Given the description of an element on the screen output the (x, y) to click on. 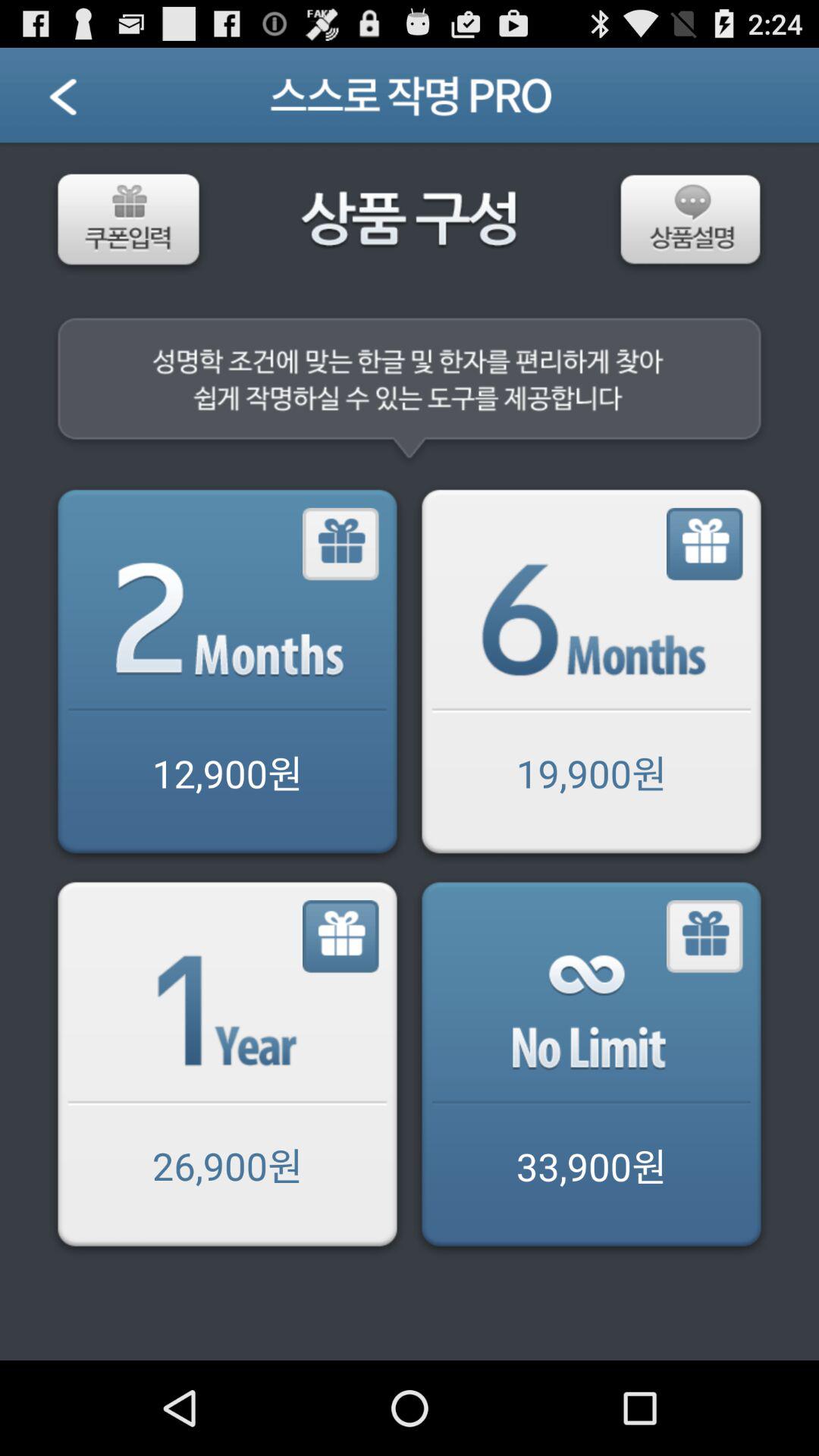
select option (591, 1067)
